Given the description of an element on the screen output the (x, y) to click on. 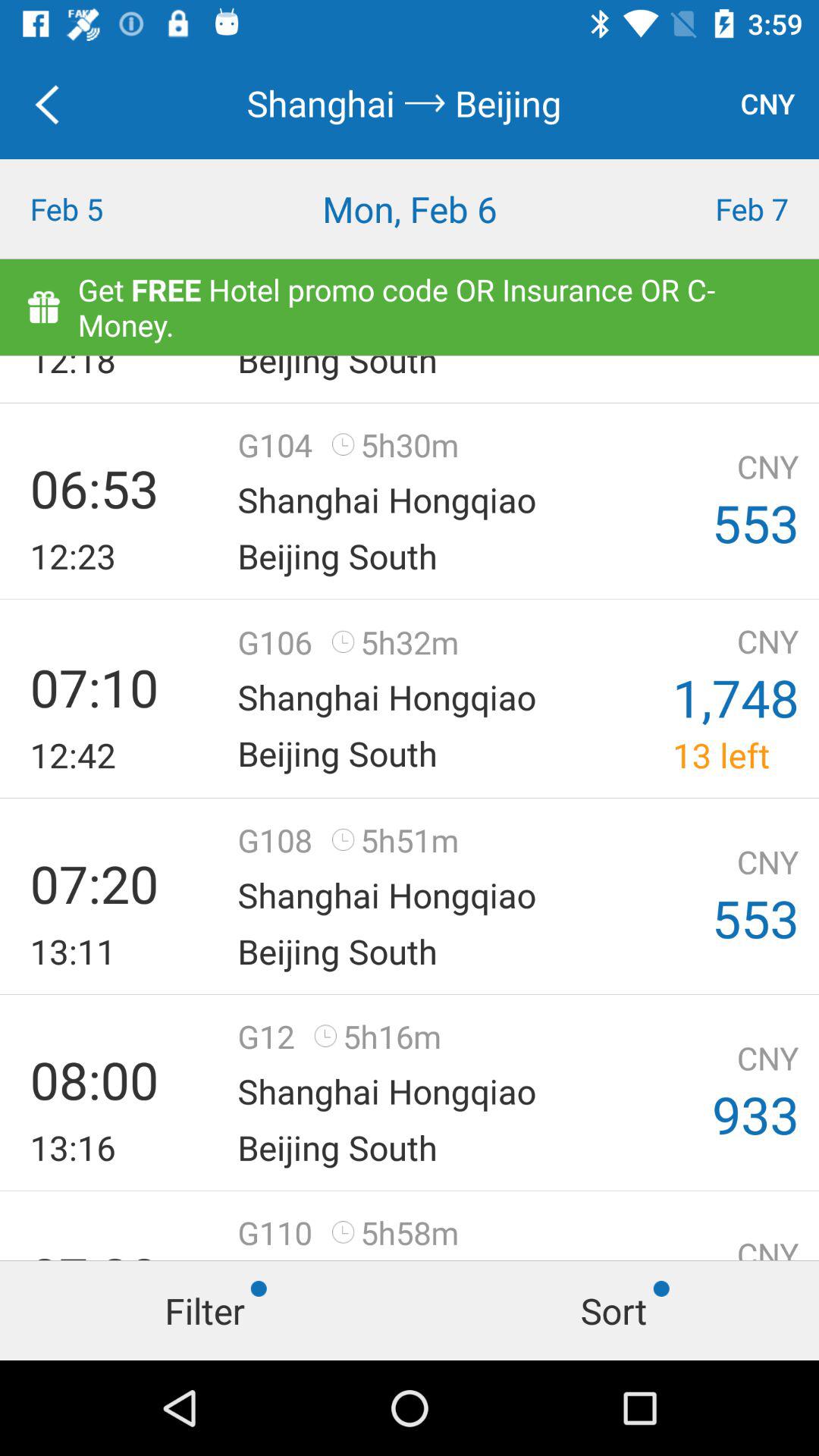
launch the icon to the left of feb 7 item (409, 208)
